Given the description of an element on the screen output the (x, y) to click on. 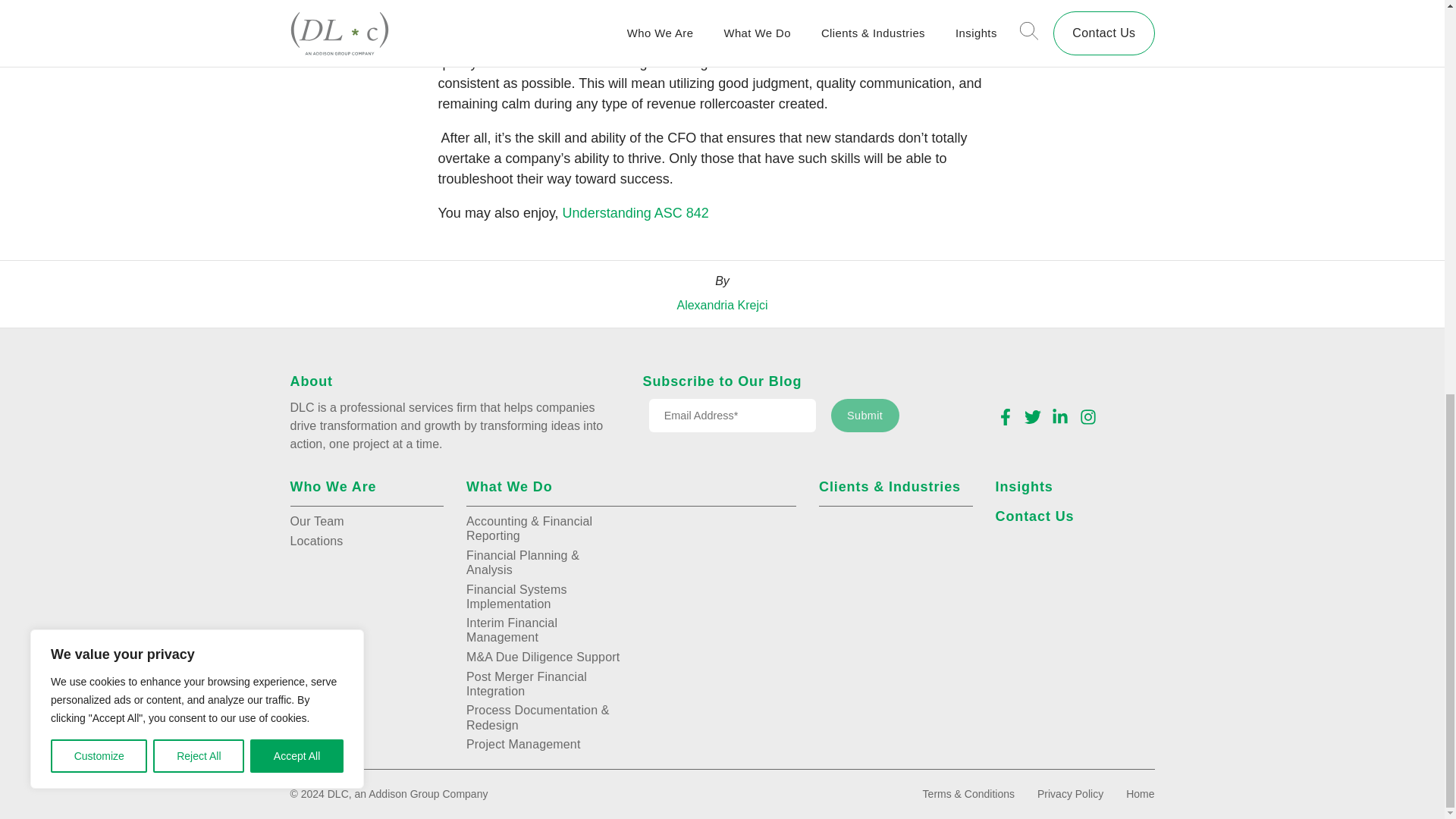
Alexandria Krejci (722, 305)
LinkedIn (1059, 416)
Twitter (1032, 416)
Instagram (1087, 416)
Customize (98, 7)
Reject All (198, 7)
Facebook (1004, 416)
Understanding ASC 842 (635, 212)
Accept All (296, 7)
Posts by Alexandria Krejci (722, 305)
